Given the description of an element on the screen output the (x, y) to click on. 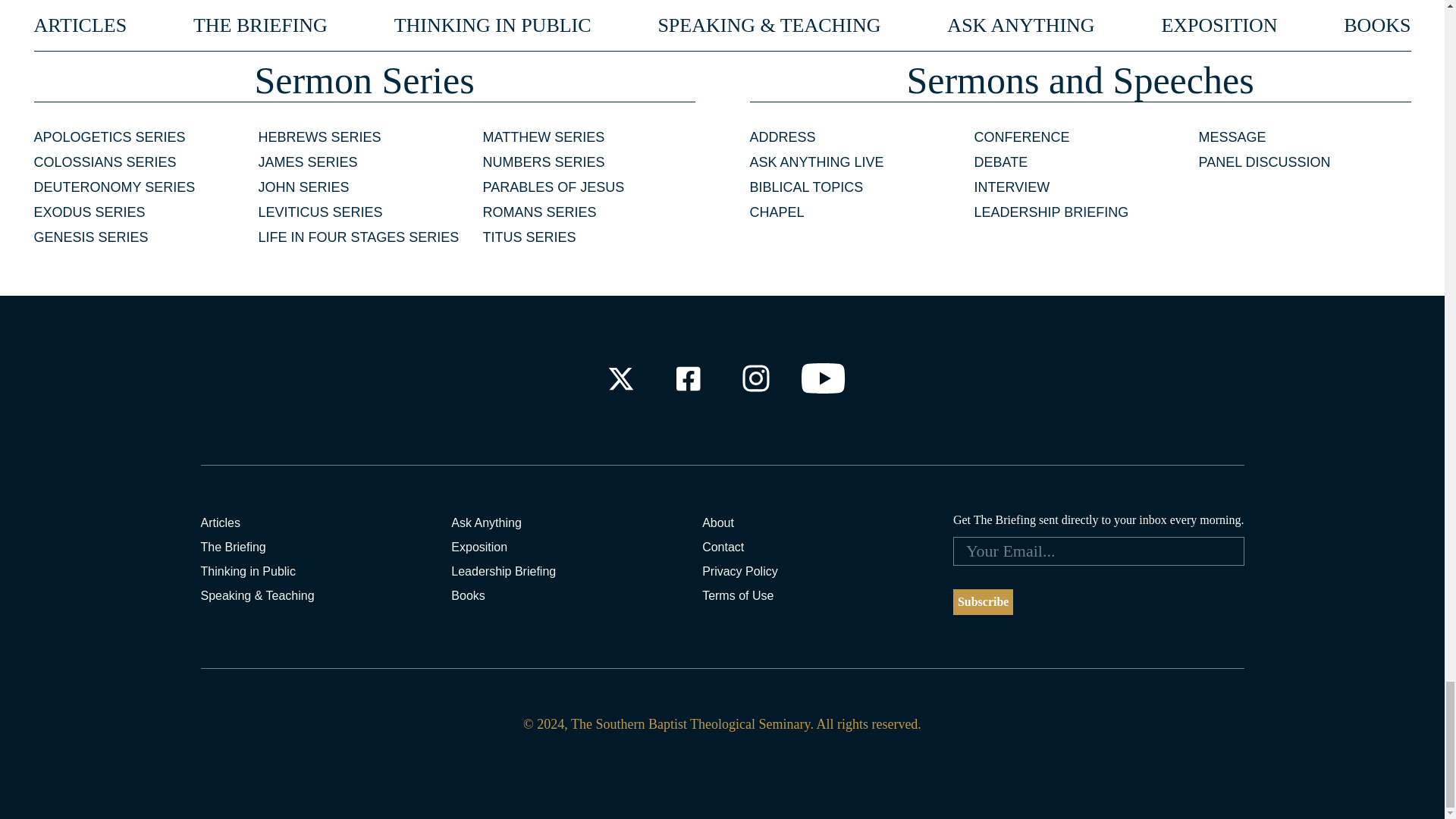
Check out our Youtube Channel (822, 378)
Check out our X Profile (620, 378)
Check out our Facebook Profile (687, 378)
Check out our Instagram Profile (755, 378)
Subscribe (983, 601)
